Given the description of an element on the screen output the (x, y) to click on. 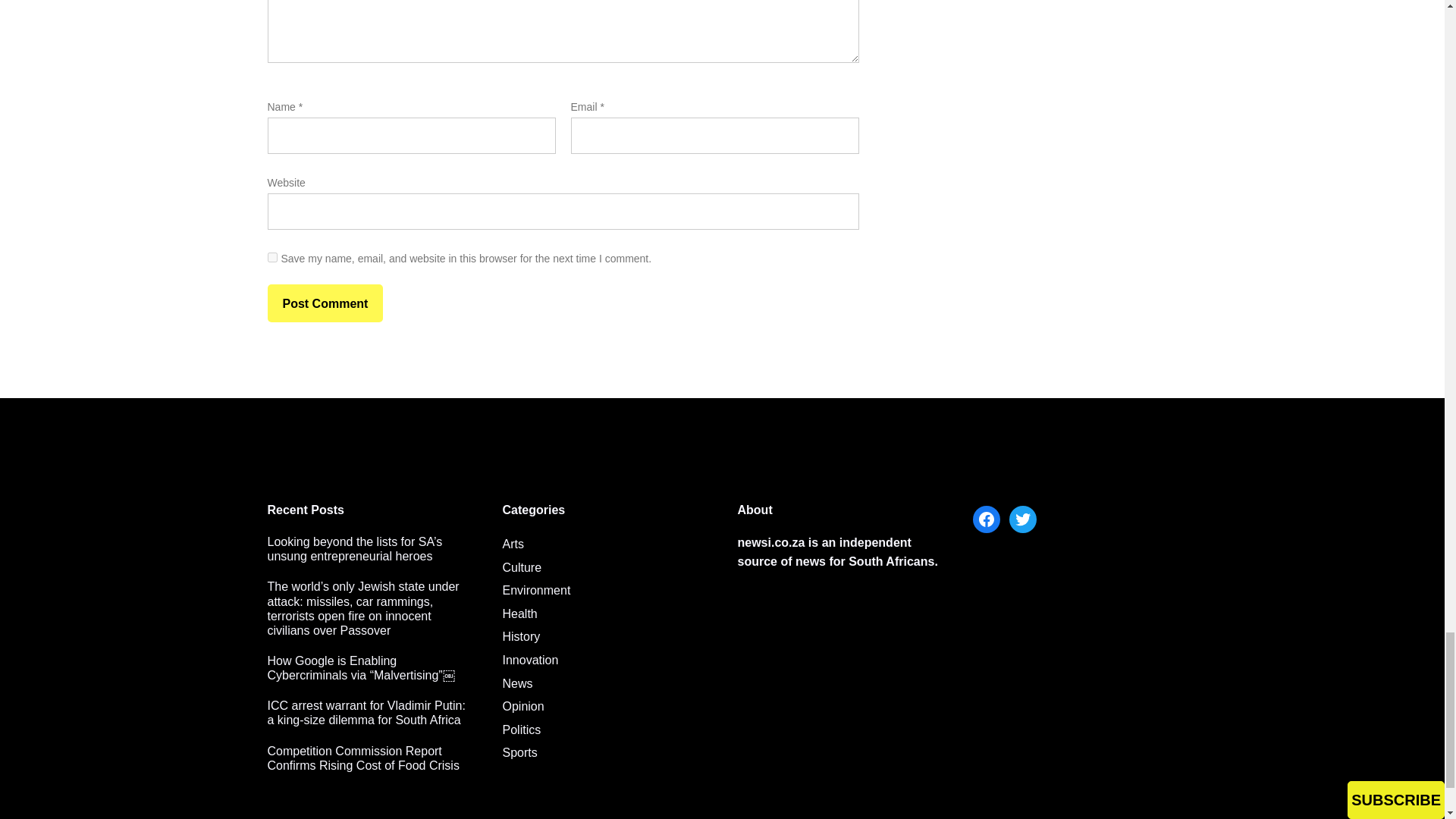
Post Comment (324, 303)
yes (271, 257)
Post Comment (324, 303)
